Given the description of an element on the screen output the (x, y) to click on. 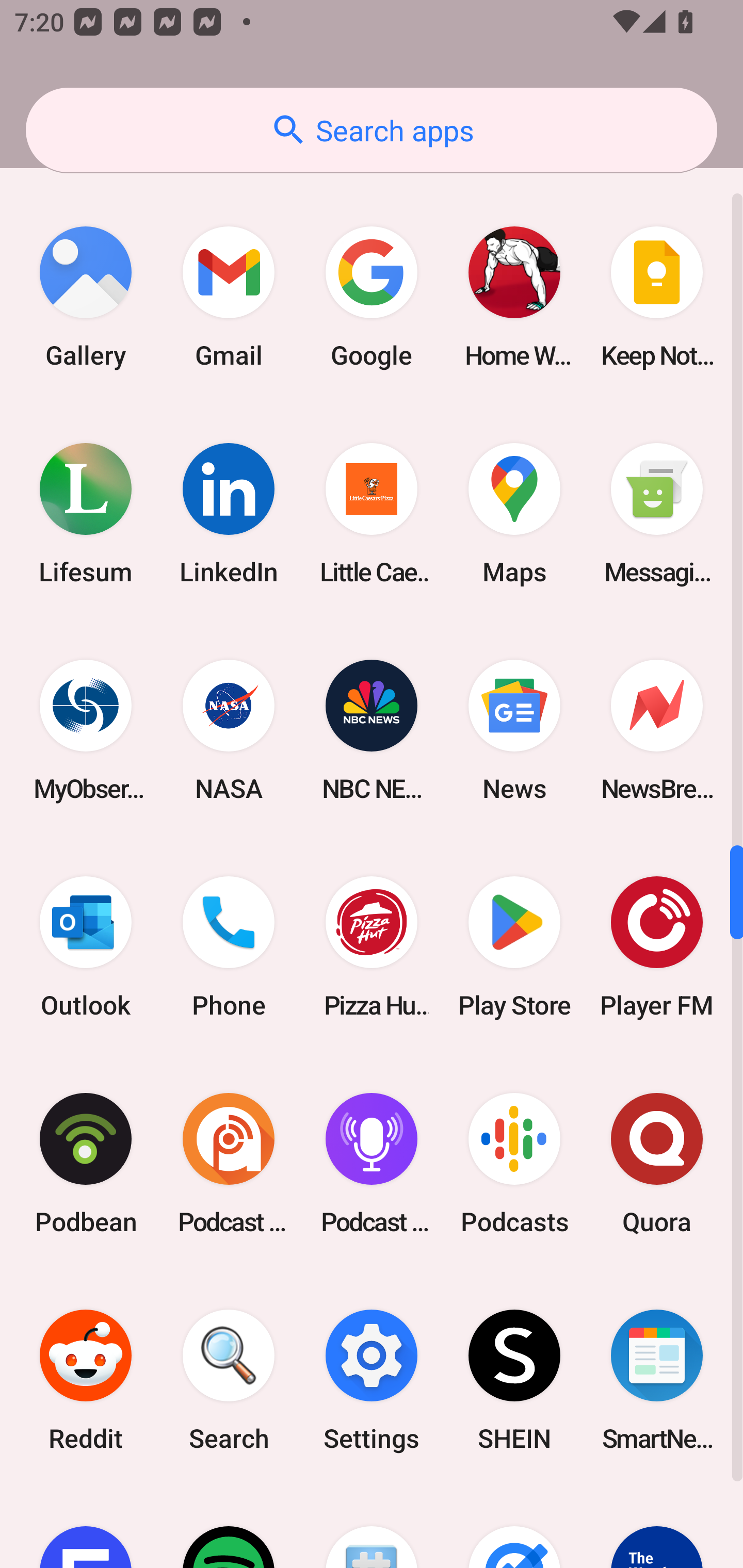
  Search apps (371, 130)
Gallery (85, 297)
Gmail (228, 297)
Google (371, 297)
Home Workout (514, 297)
Keep Notes (656, 297)
Lifesum (85, 514)
LinkedIn (228, 514)
Little Caesars Pizza (371, 514)
Maps (514, 514)
Messaging (656, 514)
MyObservatory (85, 730)
NASA (228, 730)
NBC NEWS (371, 730)
News (514, 730)
NewsBreak (656, 730)
Outlook (85, 946)
Phone (228, 946)
Pizza Hut HK & Macau (371, 946)
Play Store (514, 946)
Player FM (656, 946)
Podbean (85, 1163)
Podcast Addict (228, 1163)
Podcast Player (371, 1163)
Podcasts (514, 1163)
Quora (656, 1163)
Reddit (85, 1379)
Search (228, 1379)
Settings (371, 1379)
SHEIN (514, 1379)
SmartNews (656, 1379)
